Given the description of an element on the screen output the (x, y) to click on. 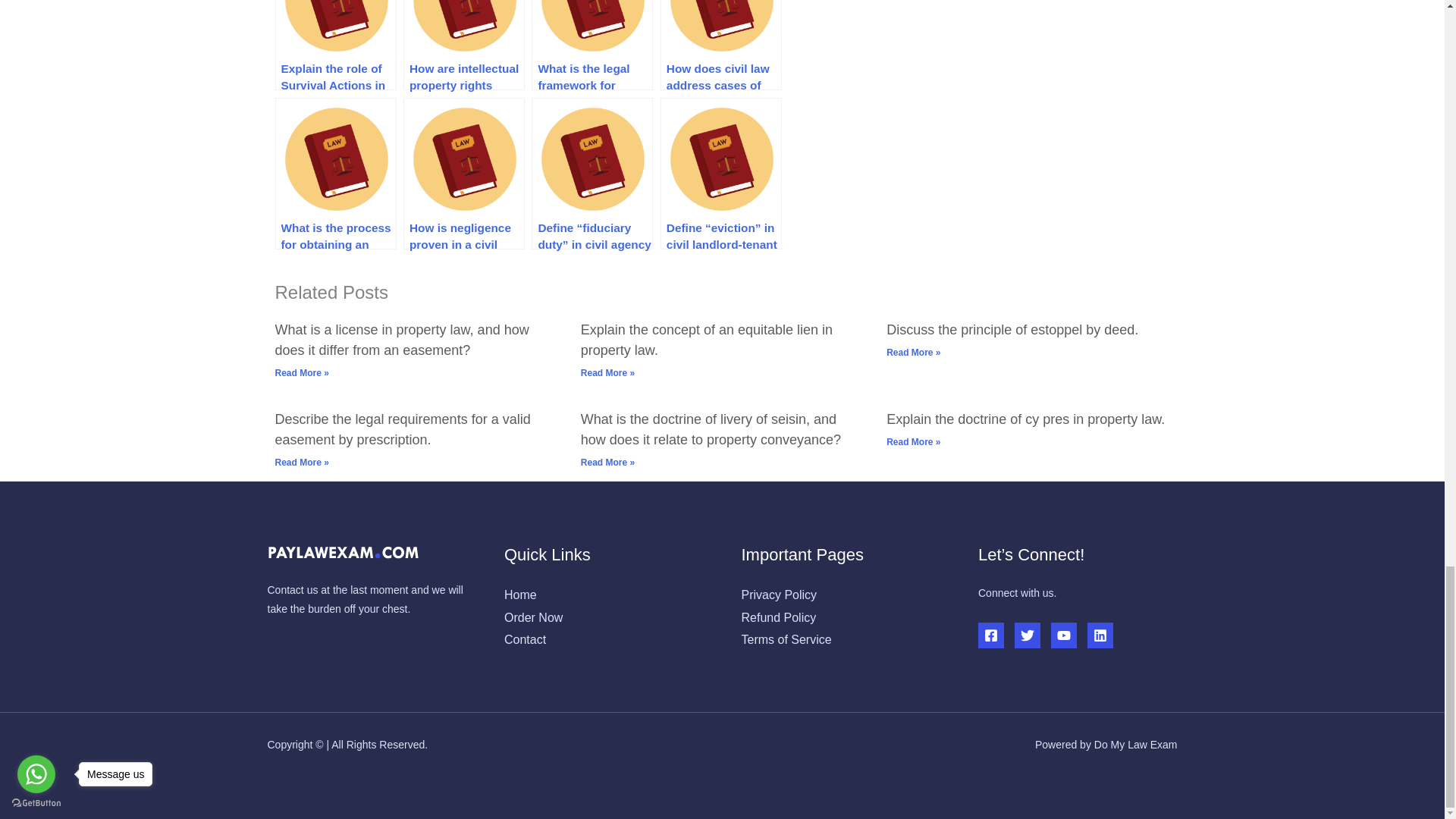
Explain the role of Survival Actions in tort law. (335, 45)
How are intellectual property rights protected in civil law? (463, 45)
